Given the description of an element on the screen output the (x, y) to click on. 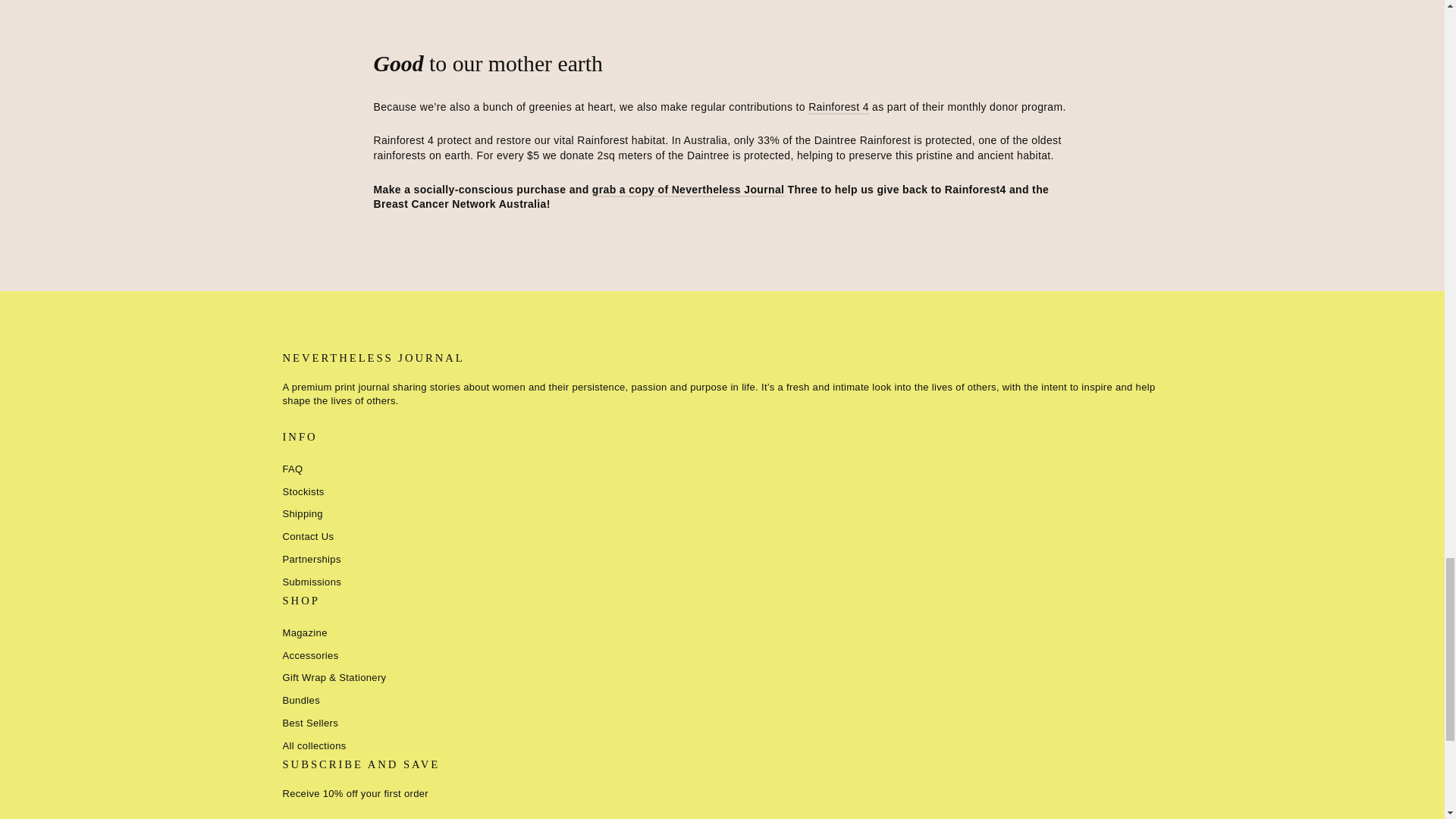
grab a copy of Nevertheless Journal (688, 190)
Rainforest 4 (838, 107)
